Given the description of an element on the screen output the (x, y) to click on. 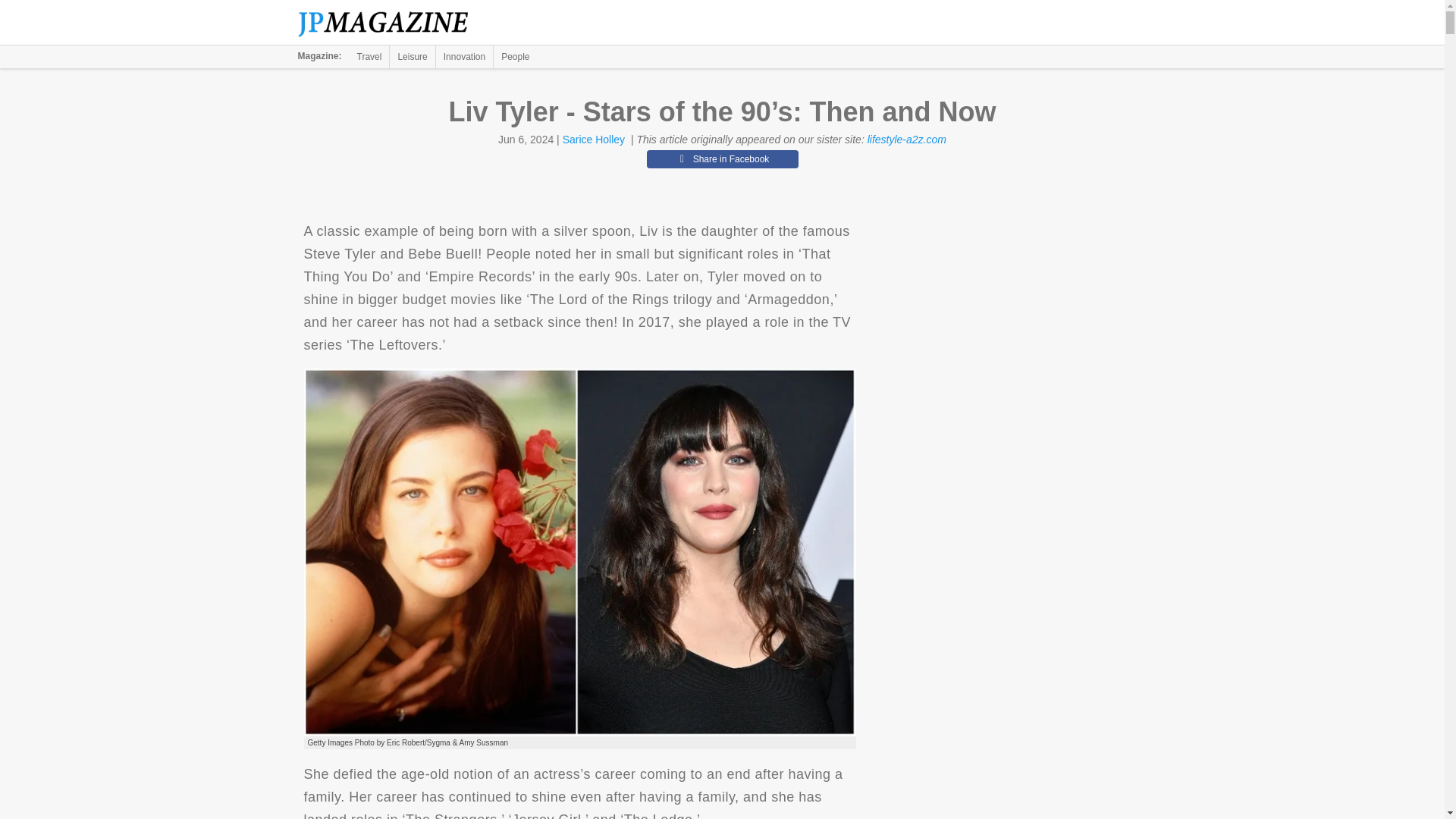
Innovation (464, 56)
People (515, 56)
The Jerusalem Post Magazine (391, 22)
Share in Facebook (721, 158)
Travel (369, 56)
Sarice Holley (593, 139)
Leisure (411, 56)
lifestyle-a2z.com (906, 139)
